Given the description of an element on the screen output the (x, y) to click on. 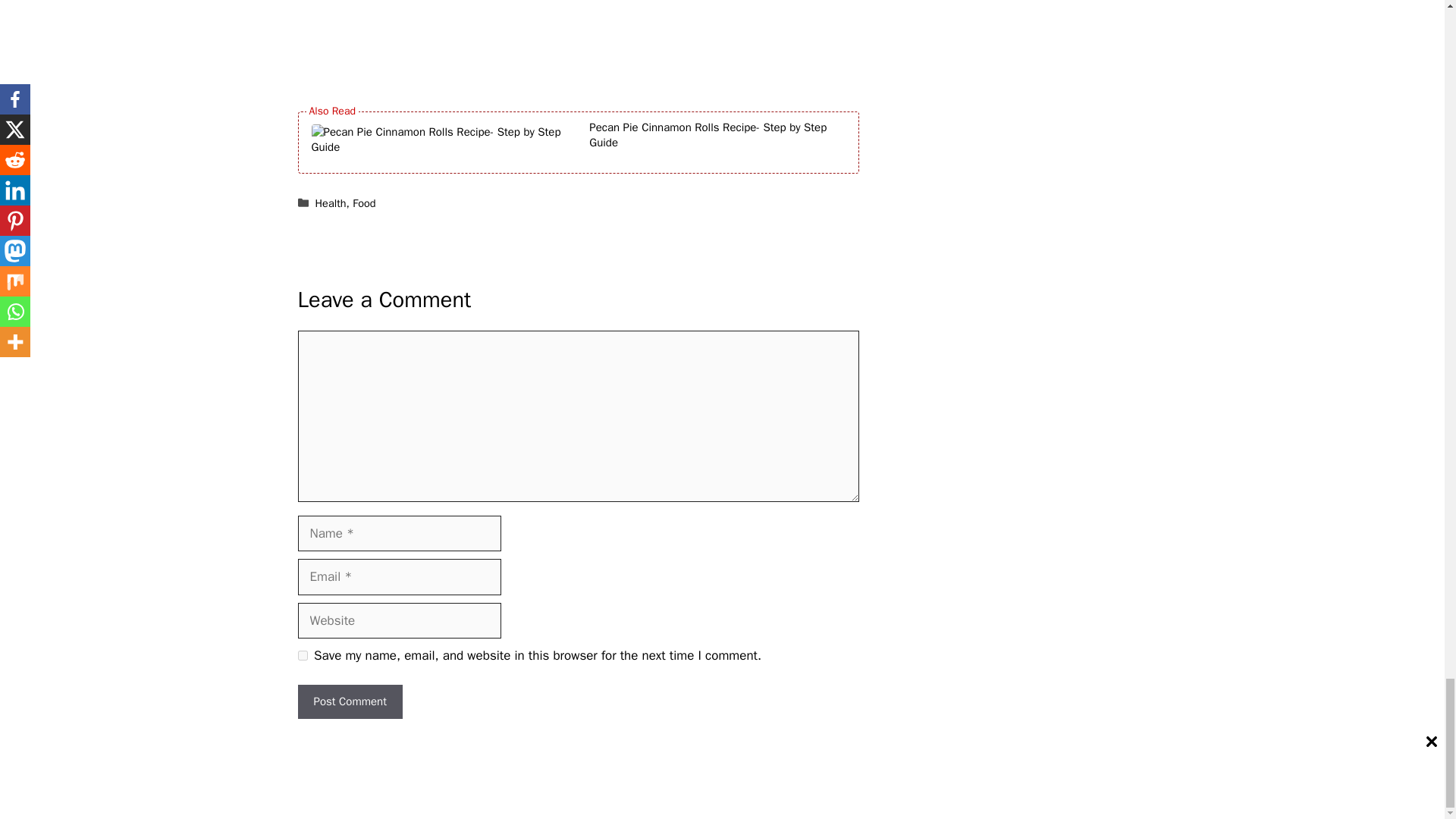
Health (330, 202)
yes (302, 655)
Post Comment (349, 701)
Food (363, 202)
Pecan Pie Cinnamon Rolls Recipe- Step by Step Guide (719, 142)
